Given the description of an element on the screen output the (x, y) to click on. 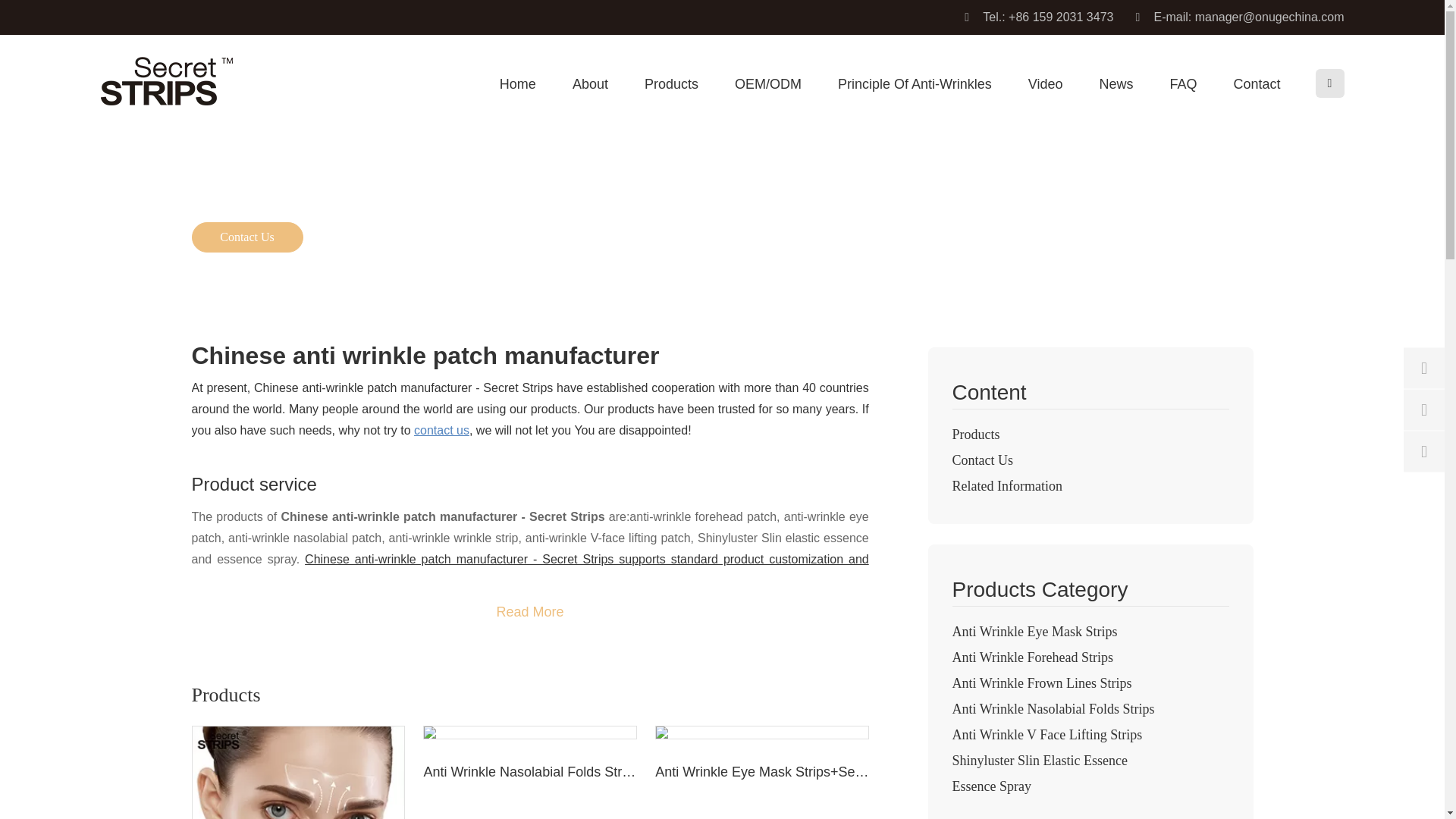
Guangzhou Magic Strips Family Bio-Technology Co., Ltd.  (165, 80)
Products (671, 100)
Principle Of Anti-Wrinkles (914, 100)
